Given the description of an element on the screen output the (x, y) to click on. 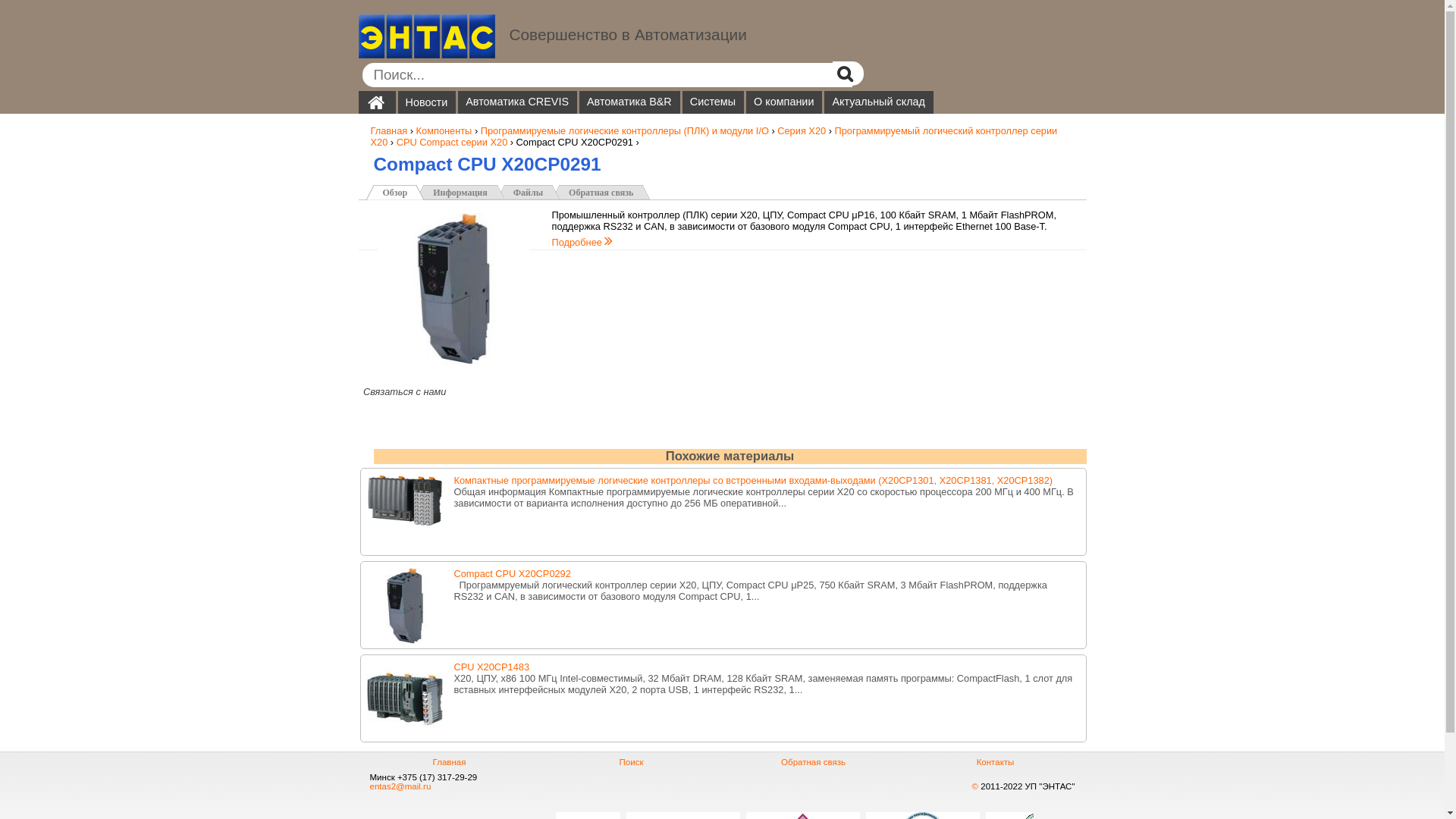
entas2@mail.ru Element type: text (400, 785)
Jump to navigation Element type: text (722, 2)
